Given the description of an element on the screen output the (x, y) to click on. 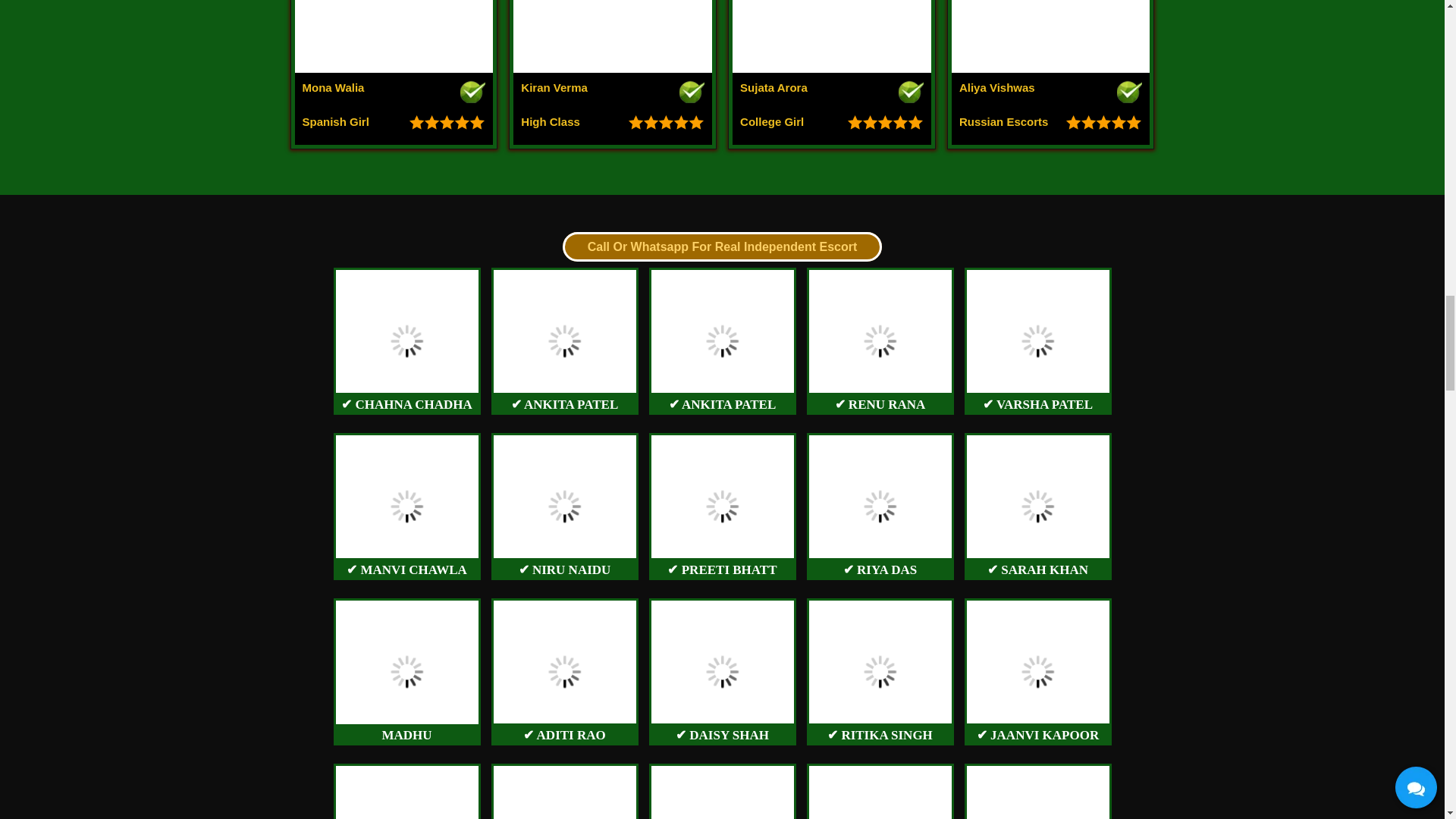
Call Or Whatsapp For Real Independent Escort (612, 72)
